Given the description of an element on the screen output the (x, y) to click on. 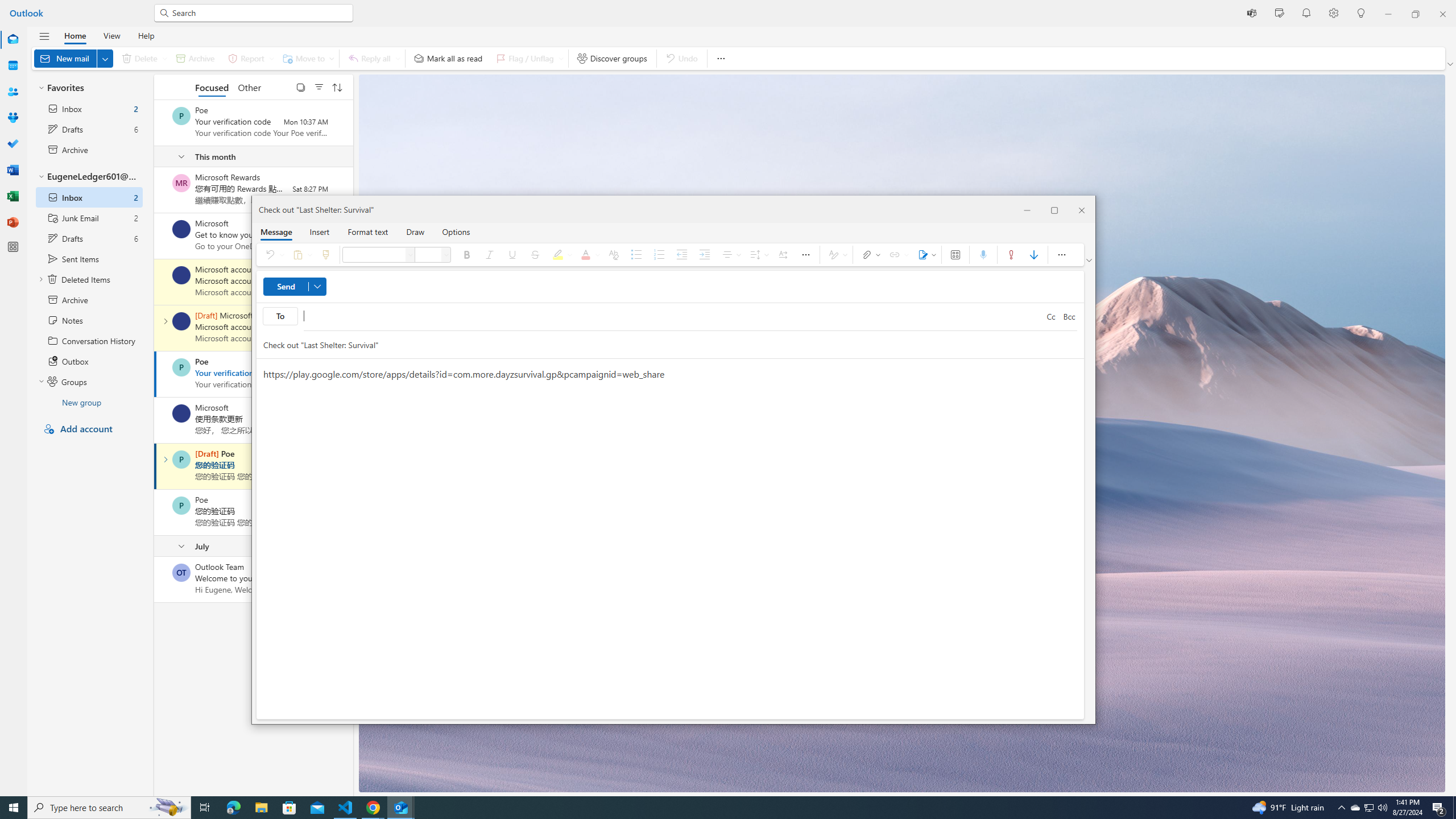
Low importance (1033, 254)
Format text (368, 231)
Calendar (12, 65)
Left-to-right (782, 254)
People (12, 92)
Microsoft Rewards (180, 182)
Excel (12, 196)
Calendar (12, 65)
Apps (954, 254)
Font size (427, 254)
Search for email, meetings, files and more. (258, 12)
Poe (180, 505)
Underline (512, 254)
Running applications (717, 807)
